Given the description of an element on the screen output the (x, y) to click on. 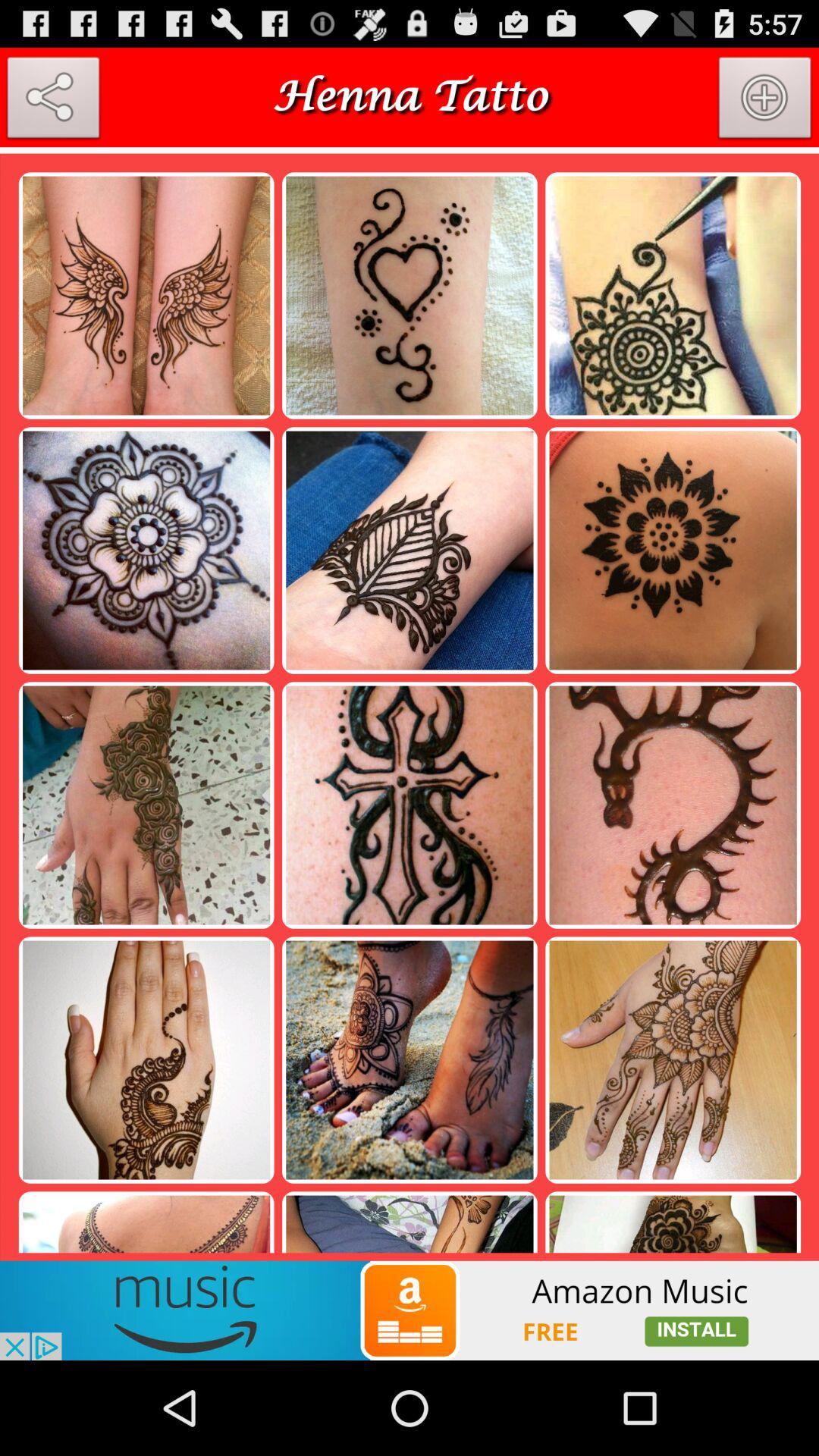
share images (53, 100)
